Given the description of an element on the screen output the (x, y) to click on. 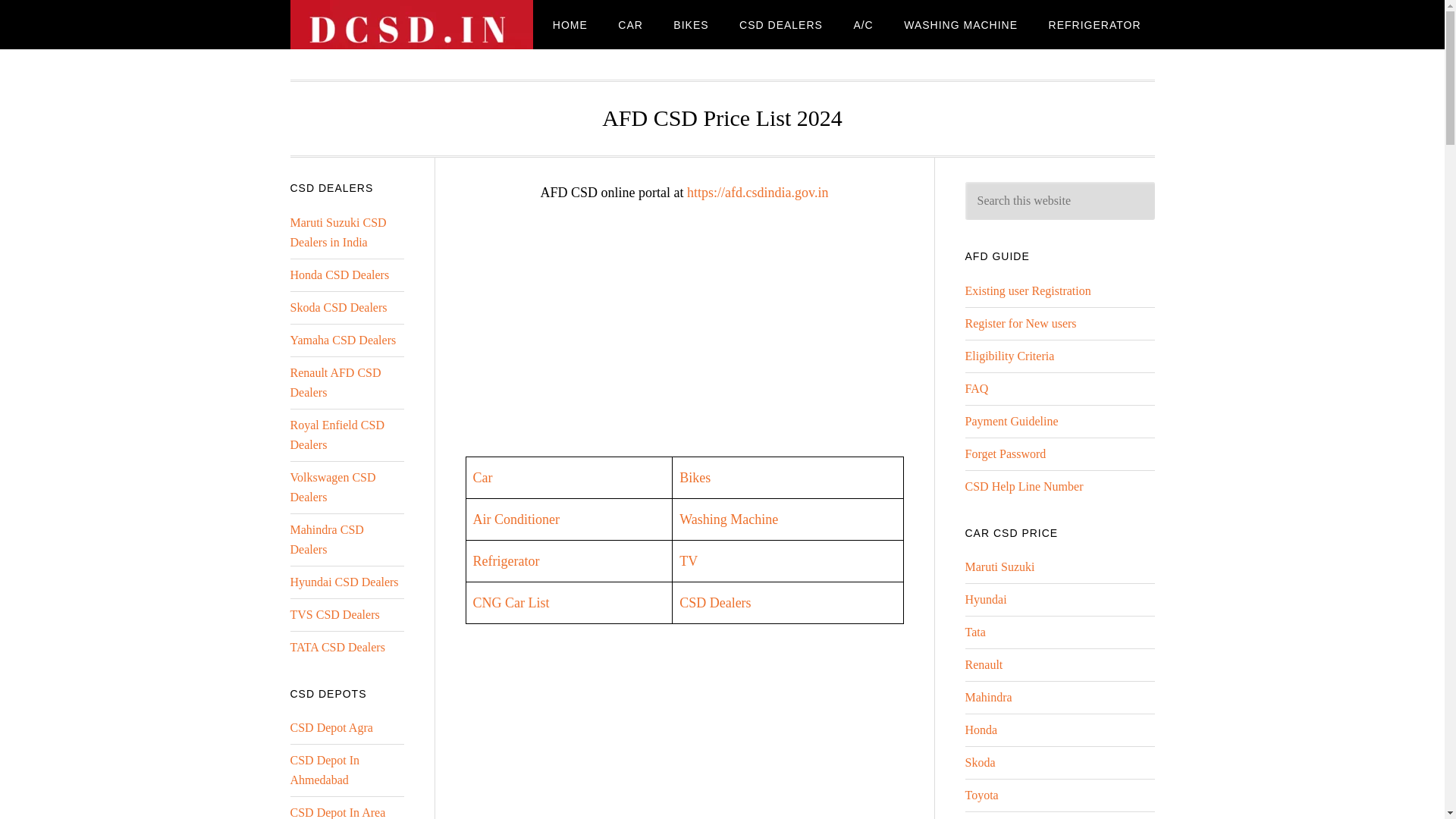
REFRIGERATOR (1094, 24)
CSD DEALERS (780, 24)
HOME (569, 24)
WASHING MACHINE (959, 24)
Washing Machine (728, 519)
CAR (630, 24)
Car (483, 477)
Bikes (694, 477)
